Given the description of an element on the screen output the (x, y) to click on. 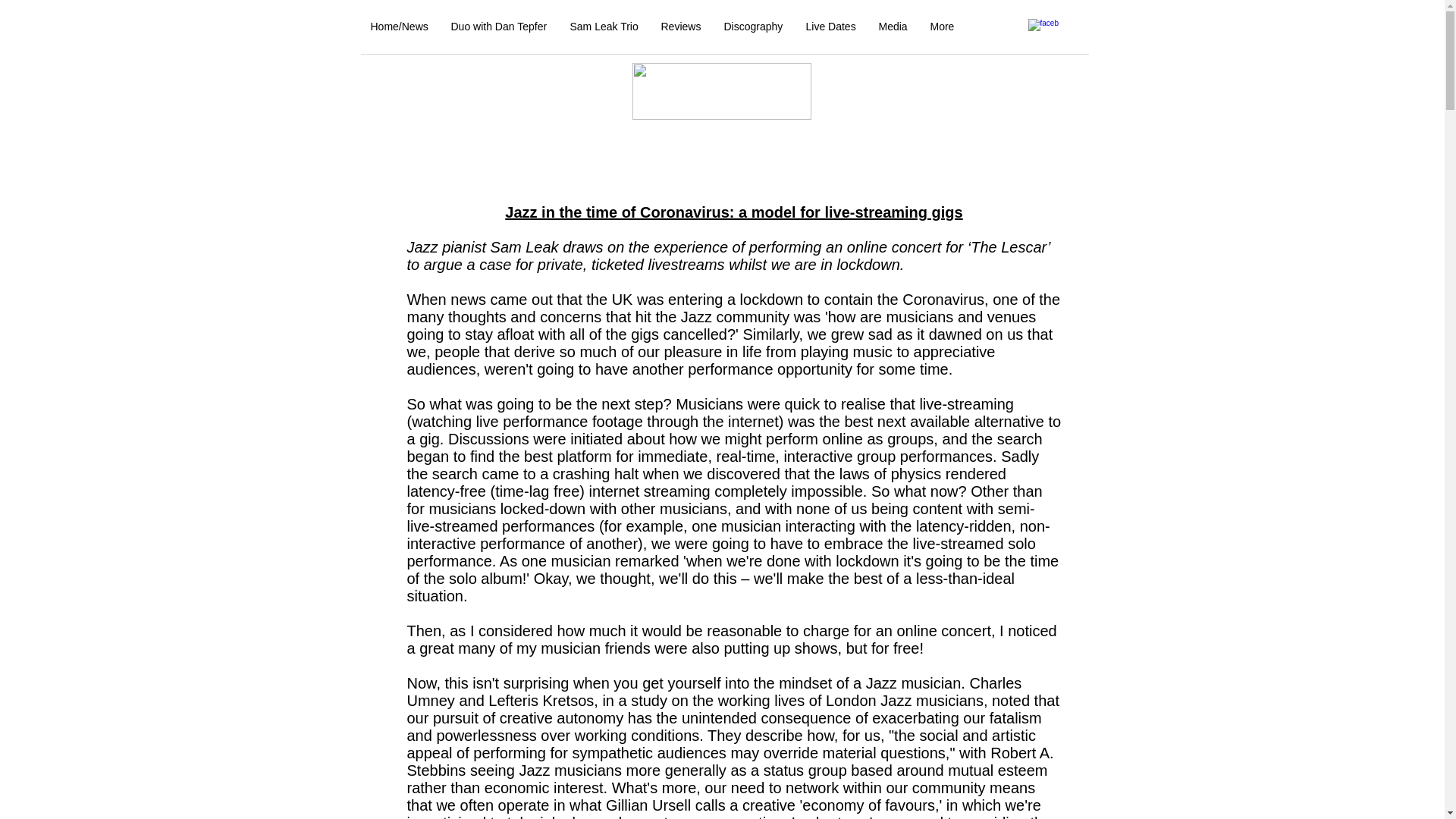
Discography (753, 26)
Reviews (680, 26)
Duo with Dan Tepfer (499, 26)
Sam Leak Trio (603, 26)
Media (892, 26)
Live Dates (830, 26)
